Given the description of an element on the screen output the (x, y) to click on. 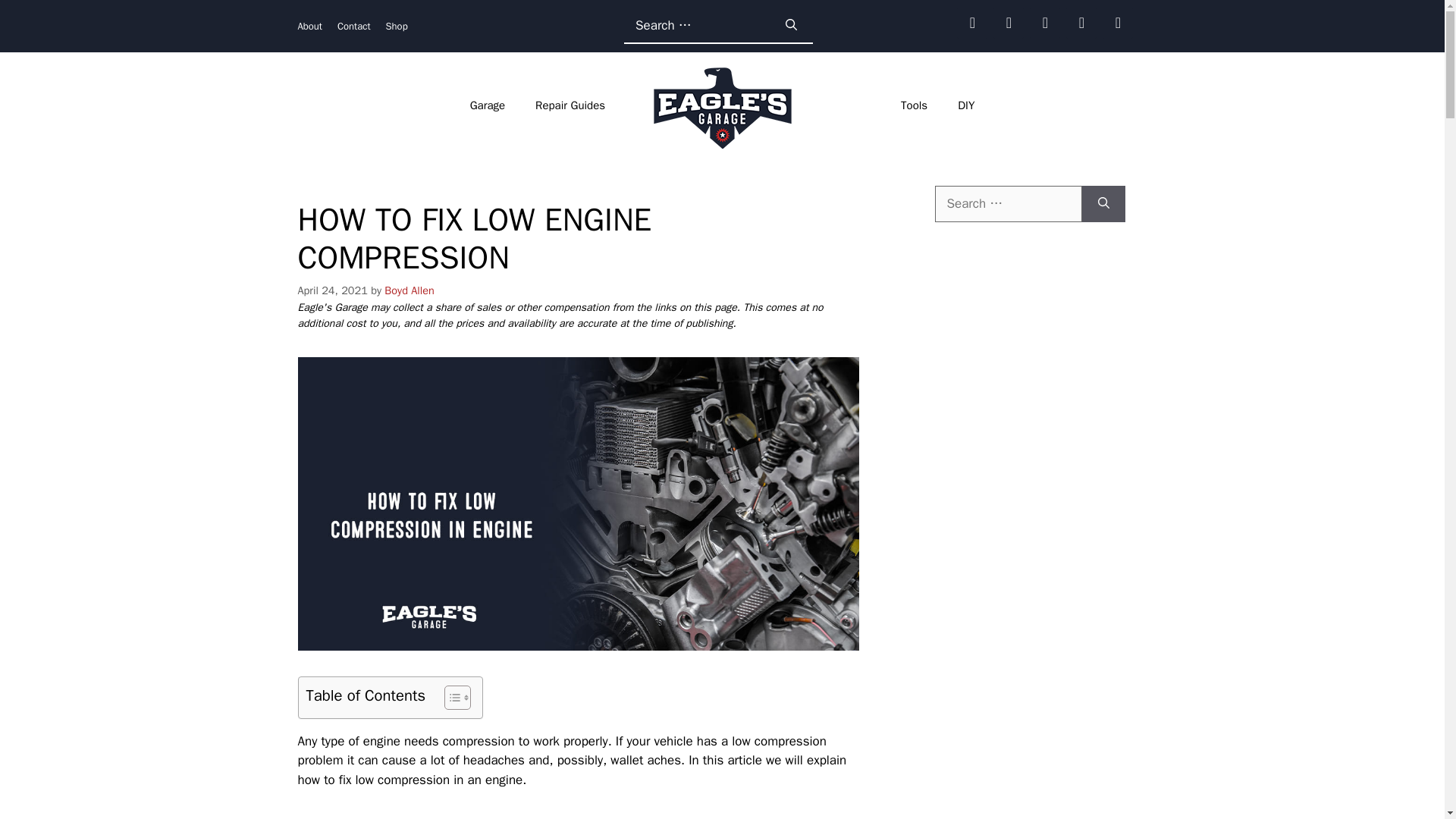
YouTube (1080, 22)
Search for: (697, 25)
View all posts by Boyd Allen (408, 290)
Contact (354, 25)
DIY (966, 104)
Boyd Allen (408, 290)
Repair Guides (569, 104)
About (309, 25)
Instagram (1007, 22)
Pinterest (1117, 22)
Garage (486, 104)
Facebook (971, 22)
Shop (396, 25)
Twitter (1044, 22)
